Given the description of an element on the screen output the (x, y) to click on. 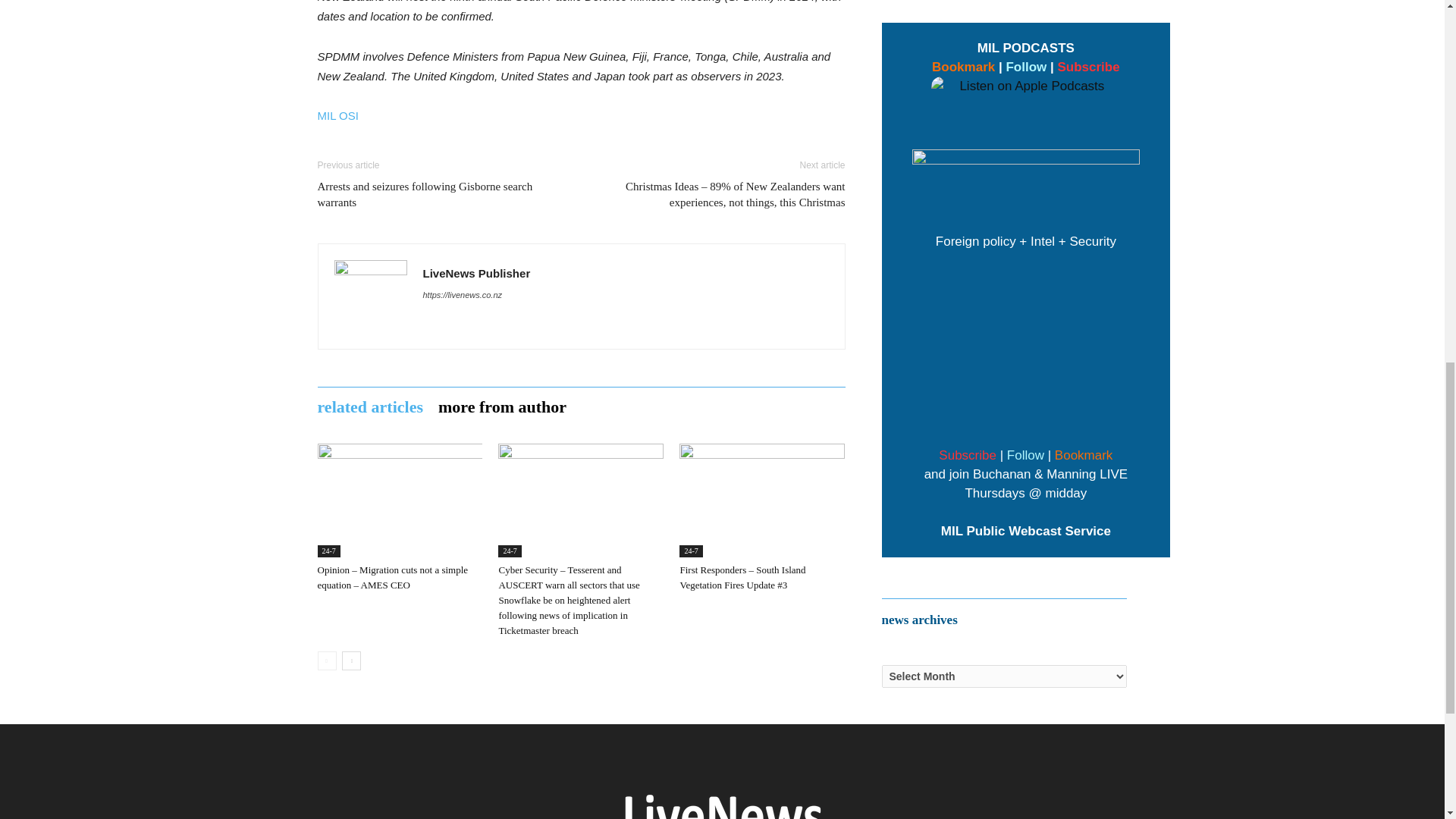
YouTube video player (1026, 345)
